Given the description of an element on the screen output the (x, y) to click on. 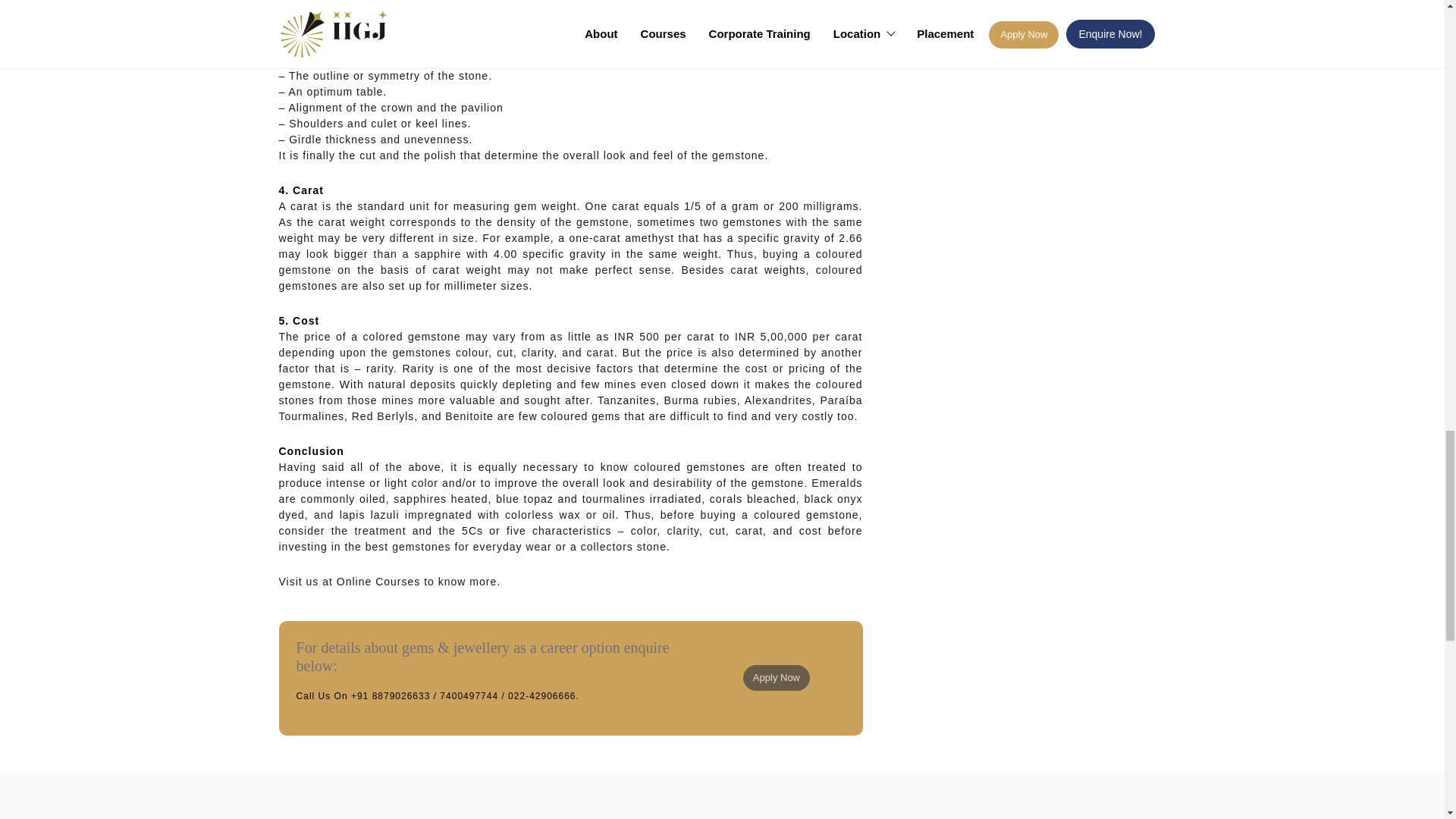
Apply Now (775, 678)
cuts in coloured gemstones (520, 43)
